Given the description of an element on the screen output the (x, y) to click on. 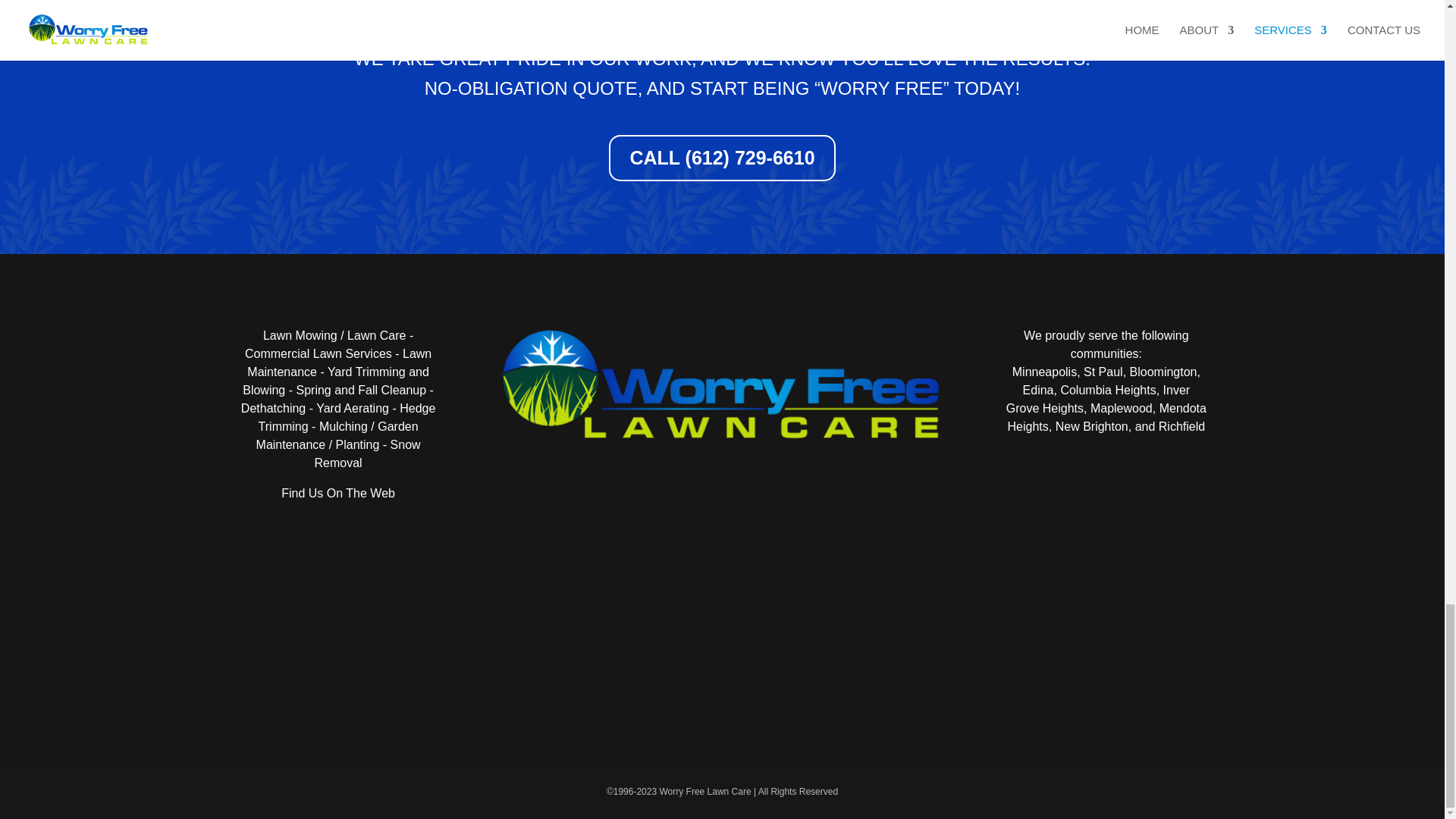
Dethatching (273, 408)
Spring and Fall Cleanup (360, 390)
Yard Aerating (351, 408)
Find Us On The Web (337, 492)
Lawn Maintenance (338, 362)
Commercial Lawn Services (317, 353)
Yard Trimming and Blowing (336, 380)
worryfreelogo (722, 386)
Snow Removal (367, 453)
Hedge Trimming (347, 417)
